Given the description of an element on the screen output the (x, y) to click on. 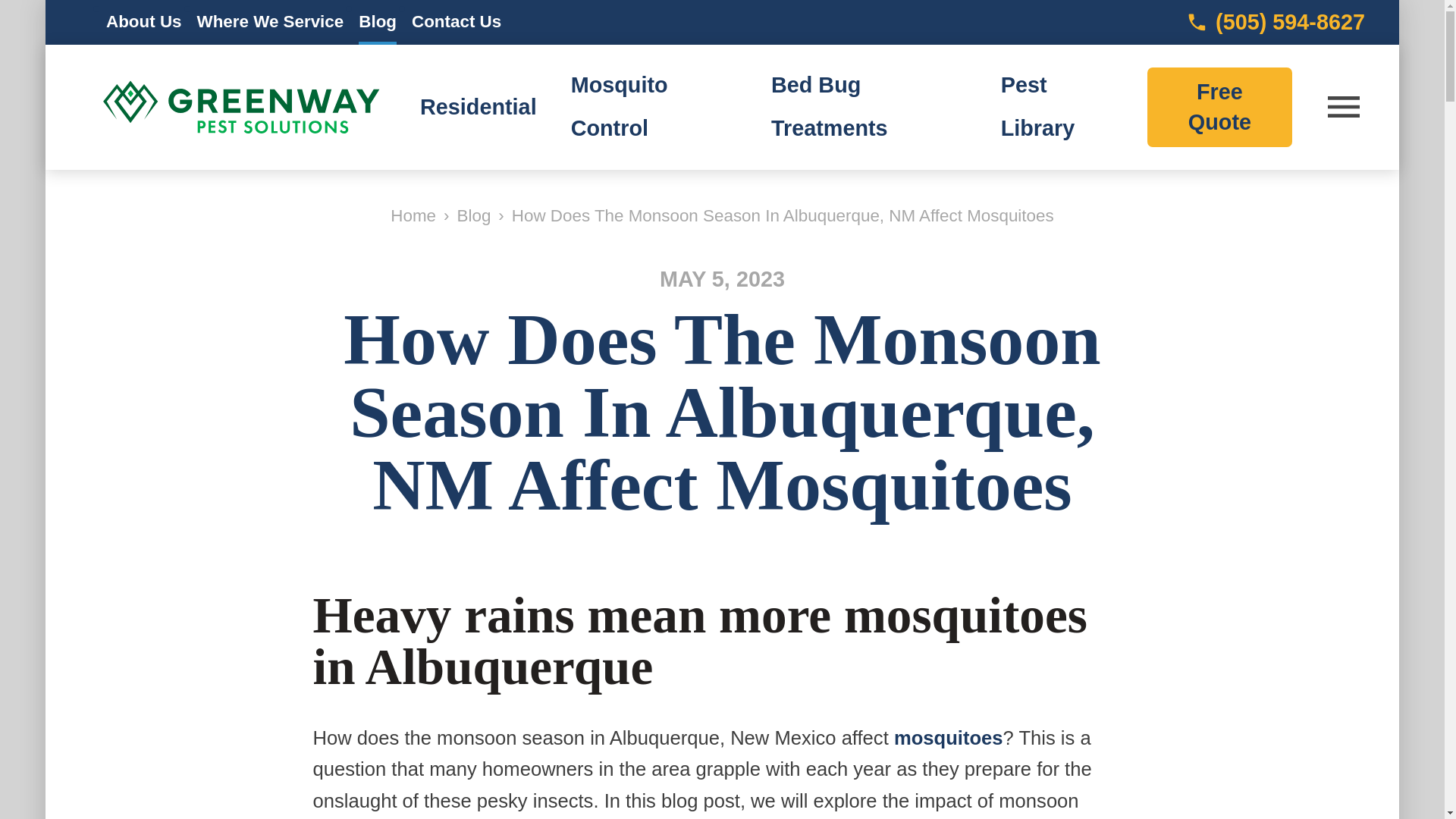
Bed Bug Treatments (829, 106)
Residential (478, 106)
Where We Service (269, 22)
About Us (144, 22)
Mosquito Control (619, 106)
mosquitoes (948, 737)
Pest Library (1038, 106)
Home (412, 215)
Blog (474, 215)
Free Quote (1219, 107)
Contact Us (456, 22)
